Given the description of an element on the screen output the (x, y) to click on. 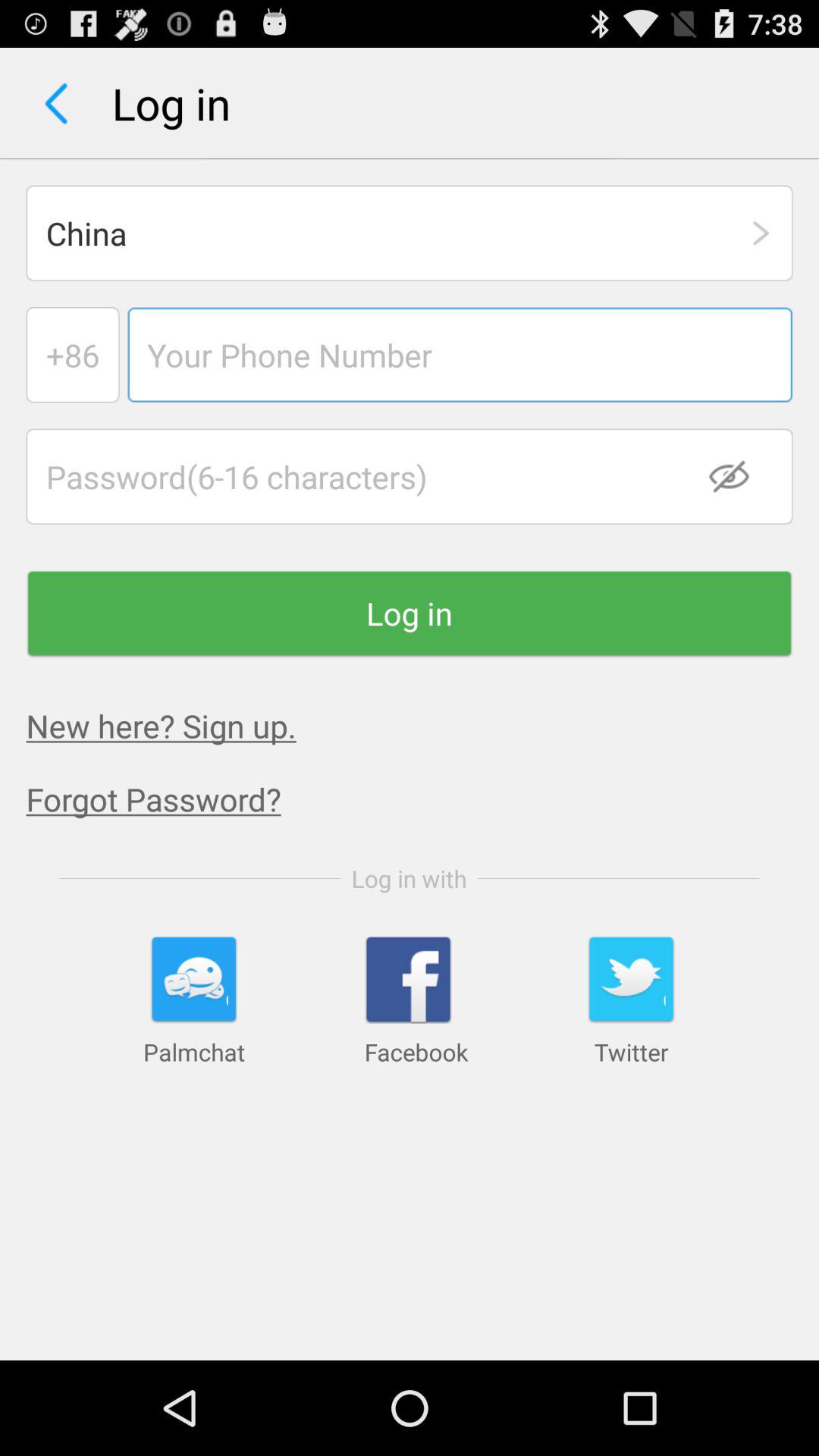
open app above forgot password? (161, 725)
